Given the description of an element on the screen output the (x, y) to click on. 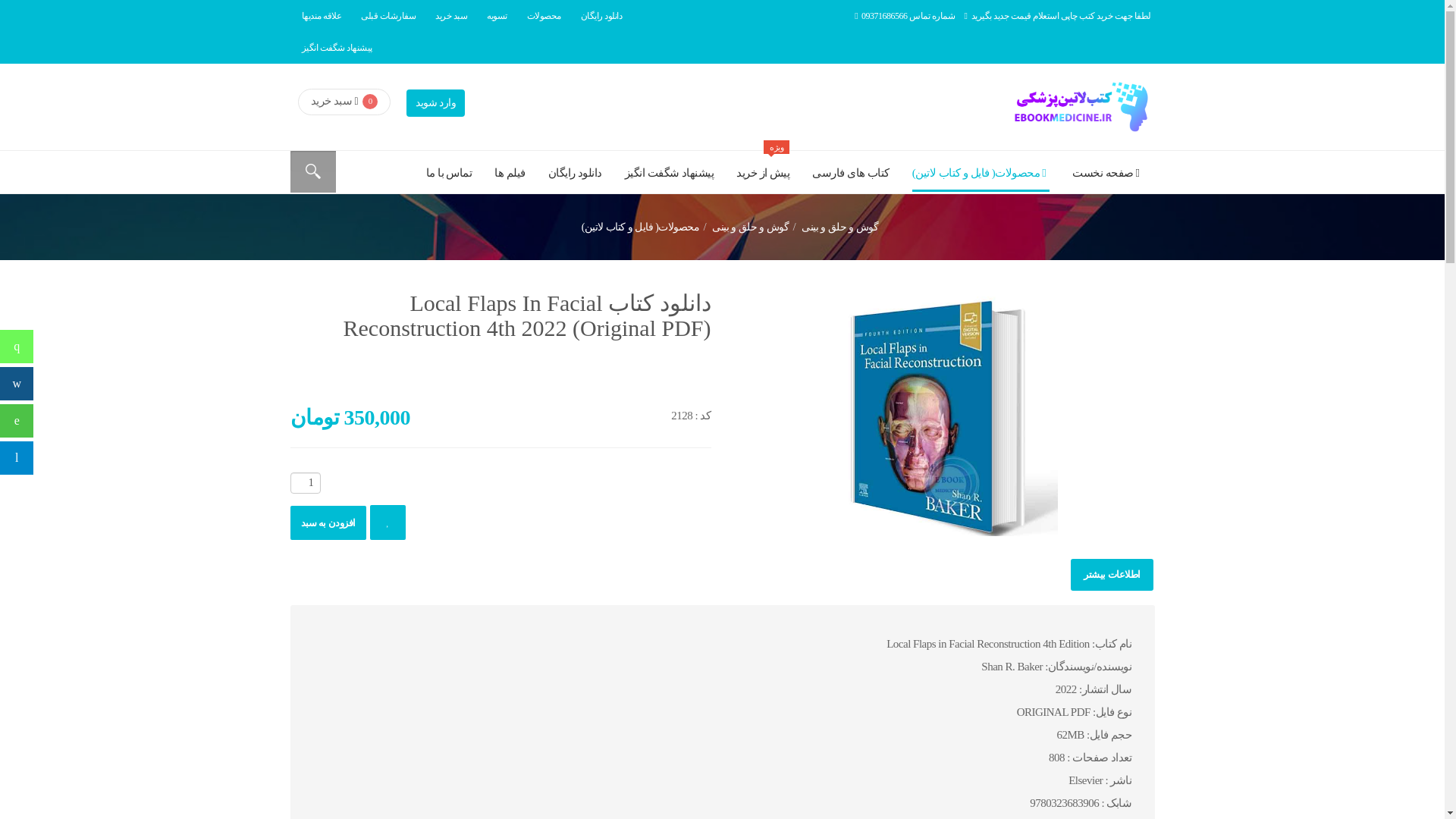
ebookmedicine (1078, 106)
1 (304, 482)
